Given the description of an element on the screen output the (x, y) to click on. 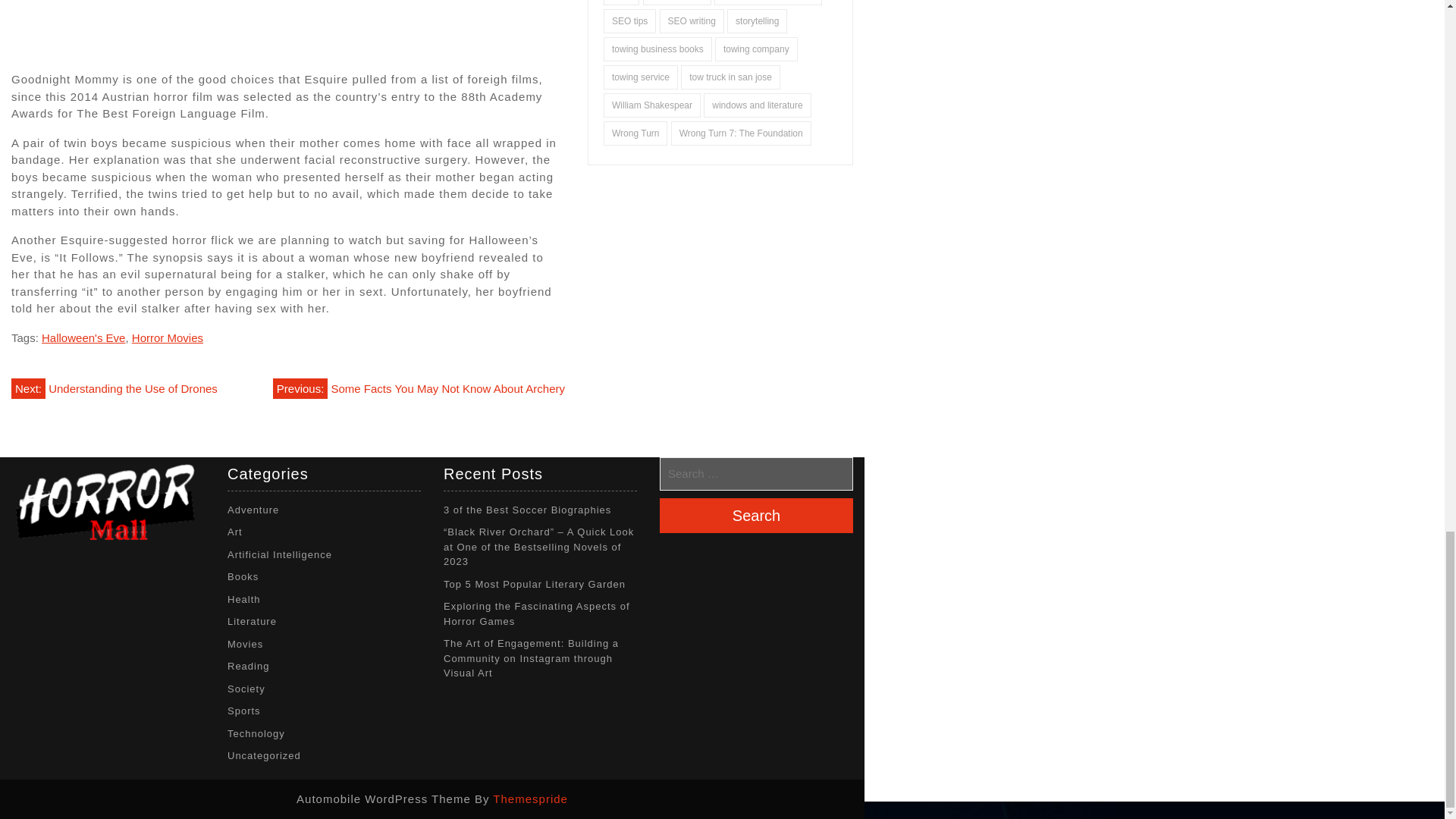
Horror Movies (167, 337)
Previous: Some Facts You May Not Know About Archery (418, 388)
Halloween's Eve (83, 337)
